Given the description of an element on the screen output the (x, y) to click on. 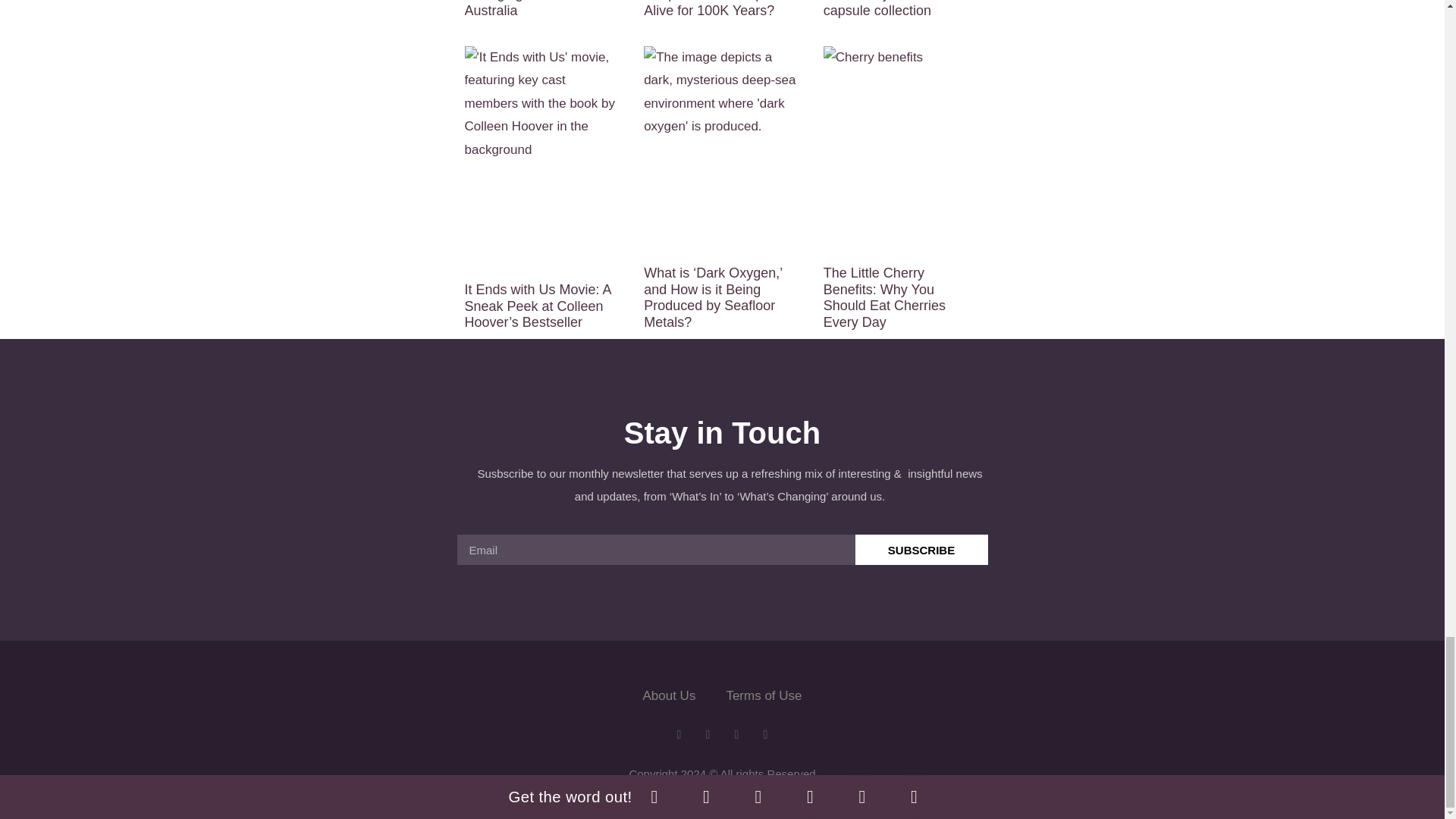
Wellness in home design: Emerging trends in Australia (542, 9)
